Given the description of an element on the screen output the (x, y) to click on. 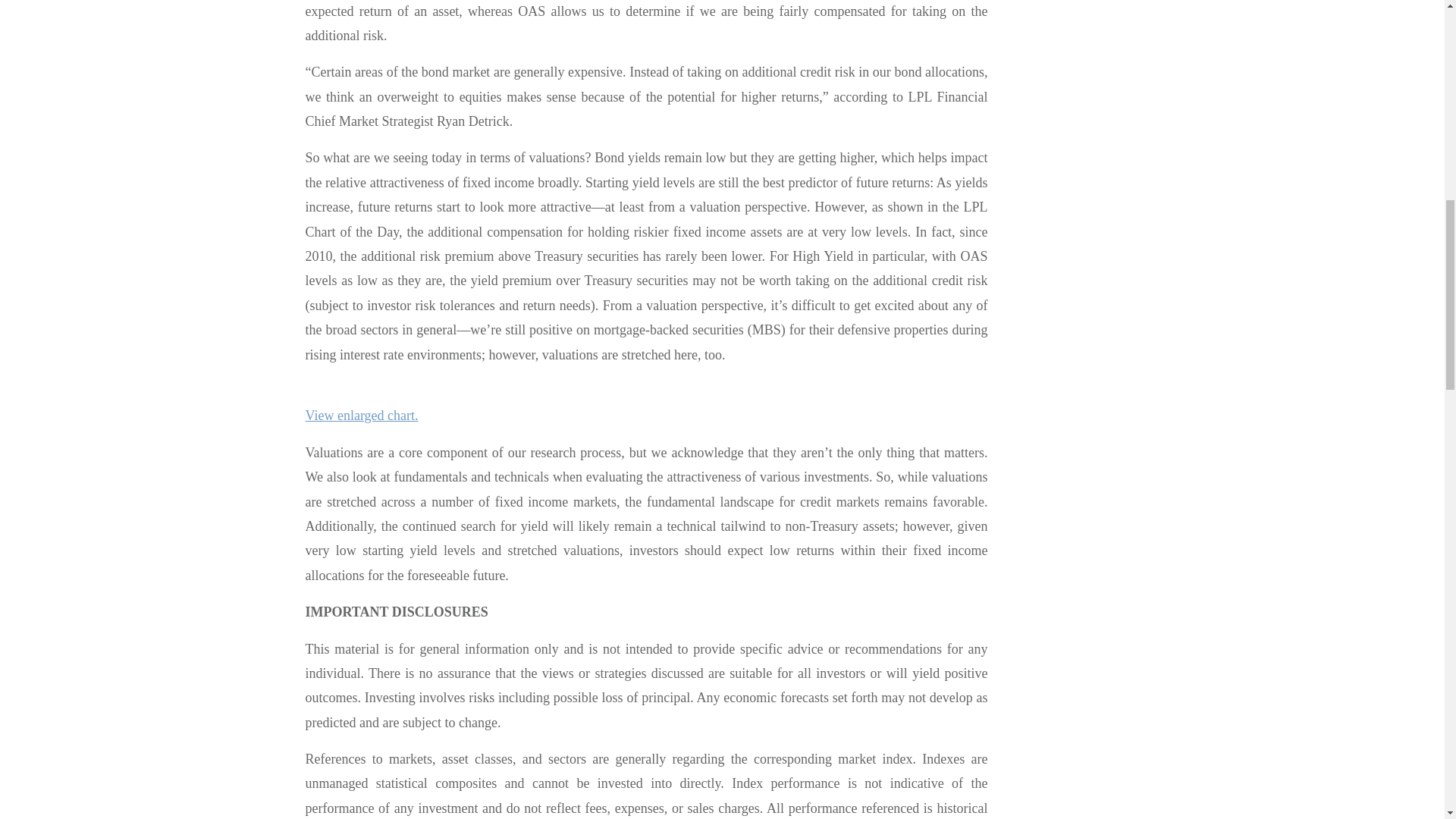
View enlarged chart. (360, 415)
